Given the description of an element on the screen output the (x, y) to click on. 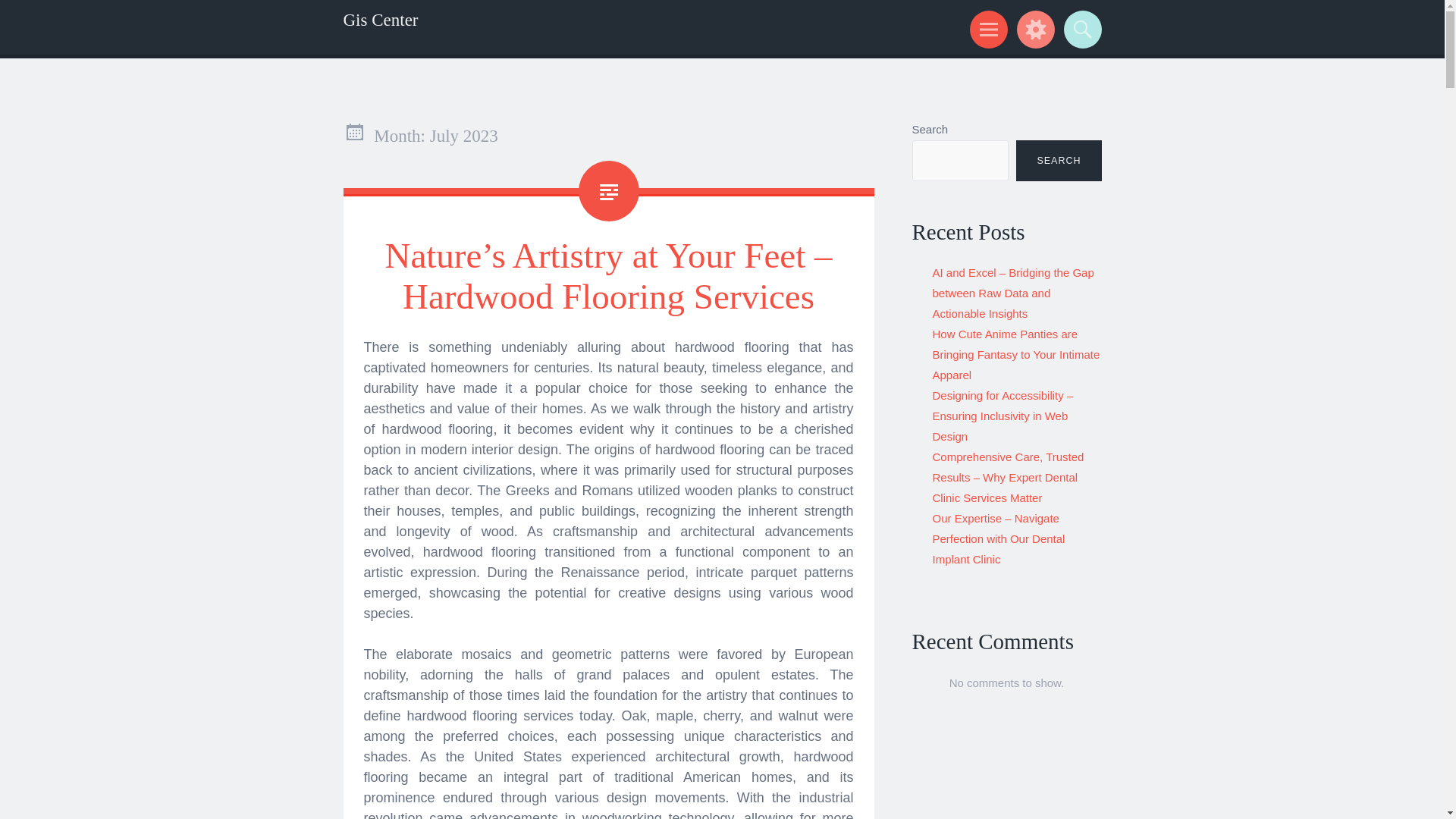
Search (1080, 29)
Widgets (1032, 29)
Menu (985, 29)
Gis Center (379, 19)
